Given the description of an element on the screen output the (x, y) to click on. 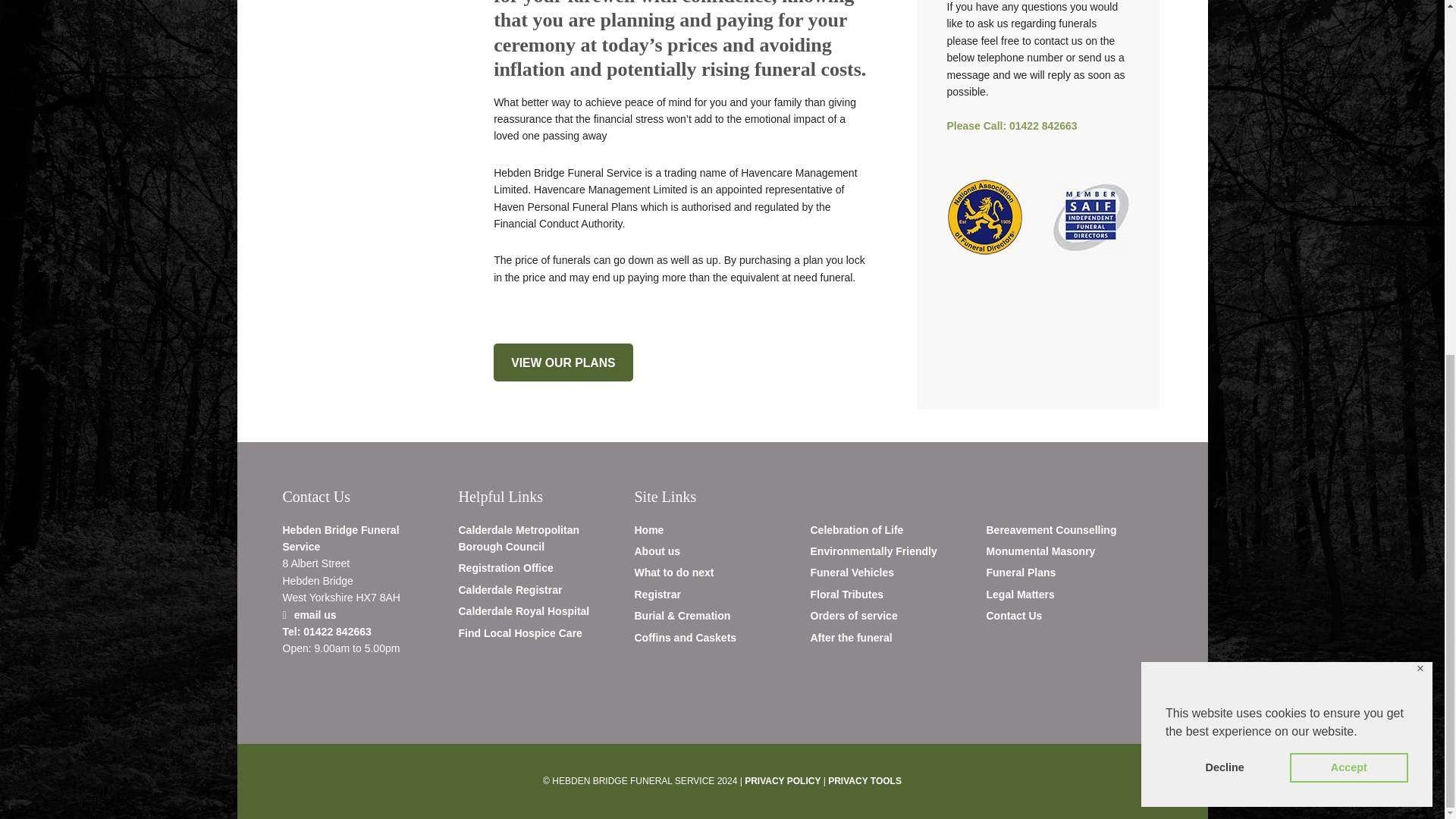
Please Call: 01422 842663 (1011, 125)
Decline (1225, 146)
VIEW OUR PLANS (562, 362)
Accept (1348, 146)
